Given the description of an element on the screen output the (x, y) to click on. 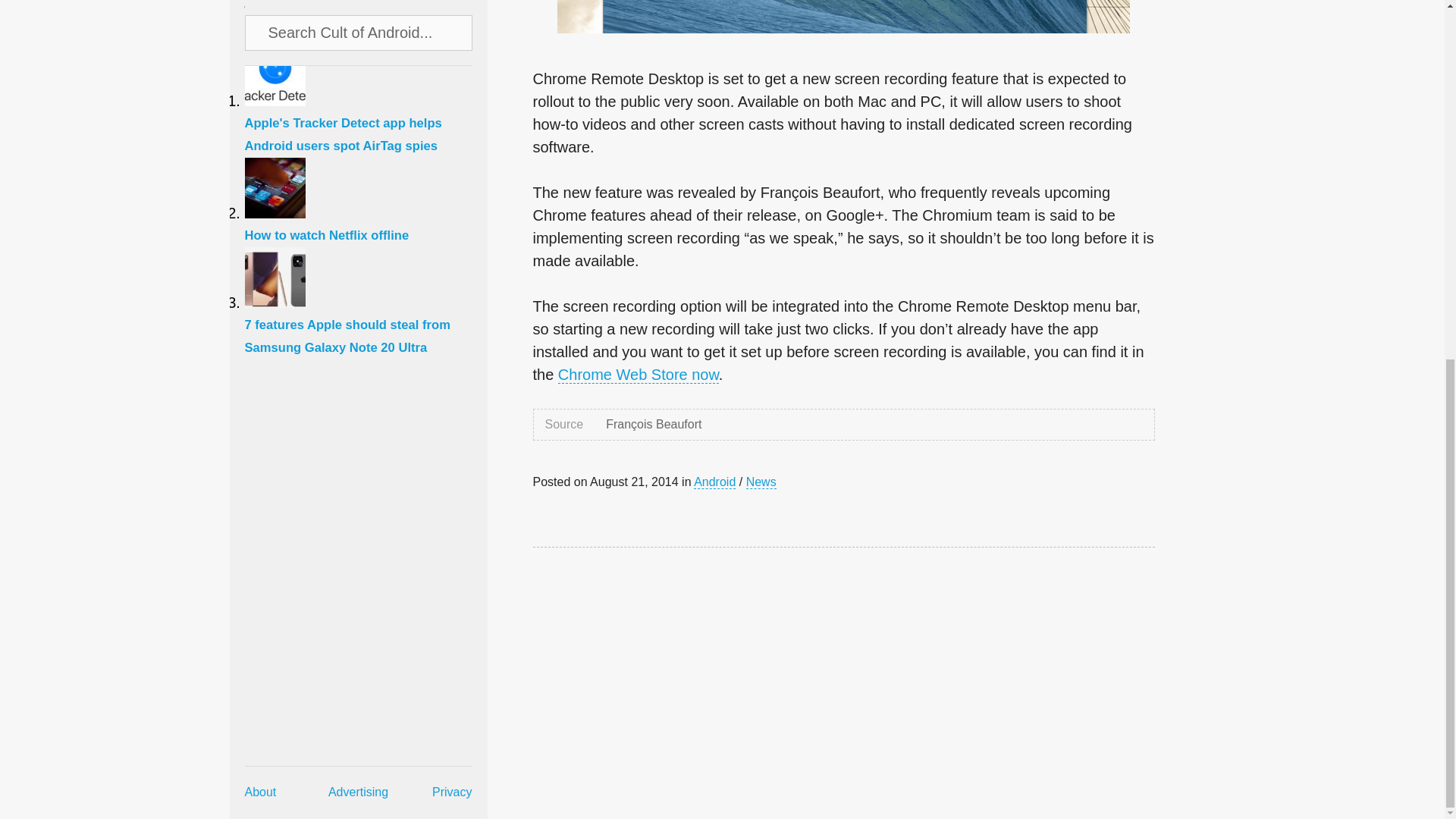
Advertisement (676, 672)
News (760, 481)
Advertising (358, 155)
Privacy (451, 155)
Android (714, 481)
About (260, 155)
Chrome Web Store now (638, 375)
